Given the description of an element on the screen output the (x, y) to click on. 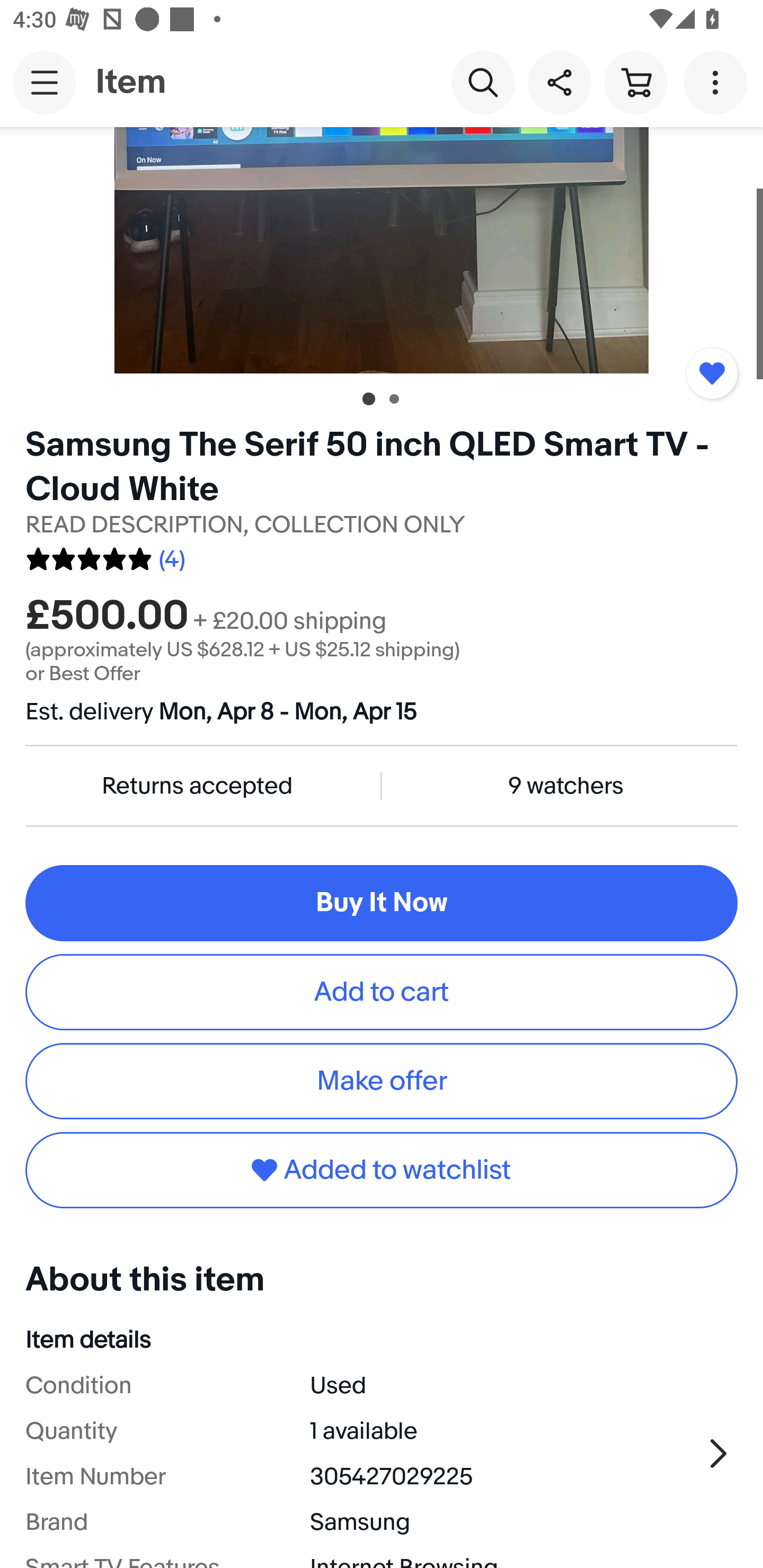
Main navigation, open (44, 82)
Search (482, 81)
Share this item (559, 81)
Cart button shopping cart (635, 81)
More options (718, 81)
Item image 1 of 2 (381, 250)
Added to watchlist (711, 372)
4 reviews. Average rating 5.0 out of five 10.0 (4) (105, 556)
Buy It Now (381, 902)
Add to cart (381, 991)
Make offer (381, 1080)
Added to watchlist (381, 1170)
